Given the description of an element on the screen output the (x, y) to click on. 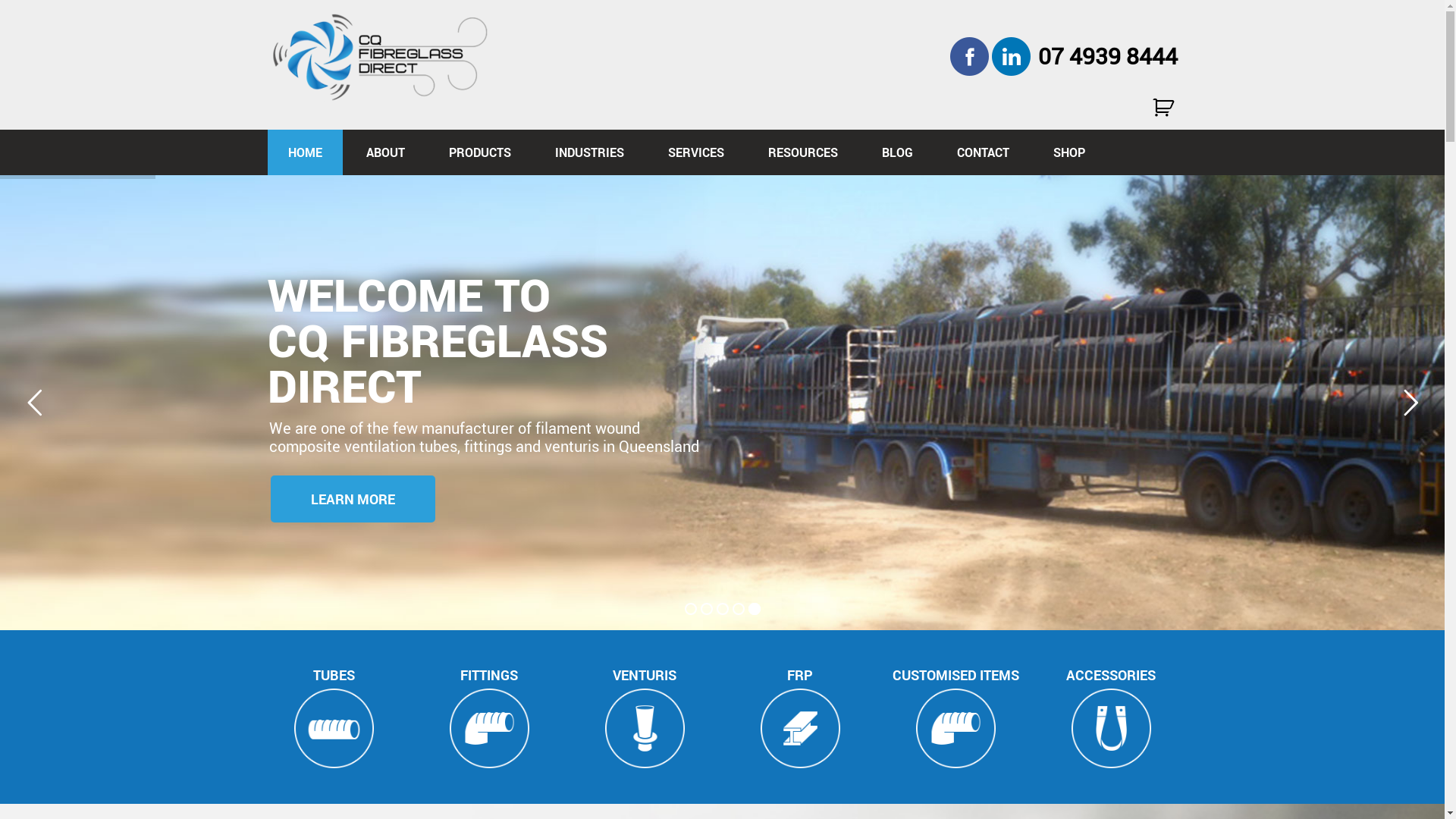
CONTACT Element type: text (982, 152)
View your shopping cart Element type: hover (1164, 108)
HOME Element type: text (304, 152)
INDUSTRIES Element type: text (588, 152)
ABOUT Element type: text (385, 152)
PRODUCTS Element type: text (478, 152)
Skip to primary navigation Element type: text (0, 0)
LEARN MORE Element type: text (352, 498)
SHOP Element type: text (1068, 152)
CQ Fiberglass Direct Element type: text (380, 55)
LEARN MORE Element type: text (352, 498)
RESOURCES Element type: text (802, 152)
07 4939 8444 Element type: text (1106, 55)
BLOG Element type: text (897, 152)
SERVICES Element type: text (695, 152)
